Given the description of an element on the screen output the (x, y) to click on. 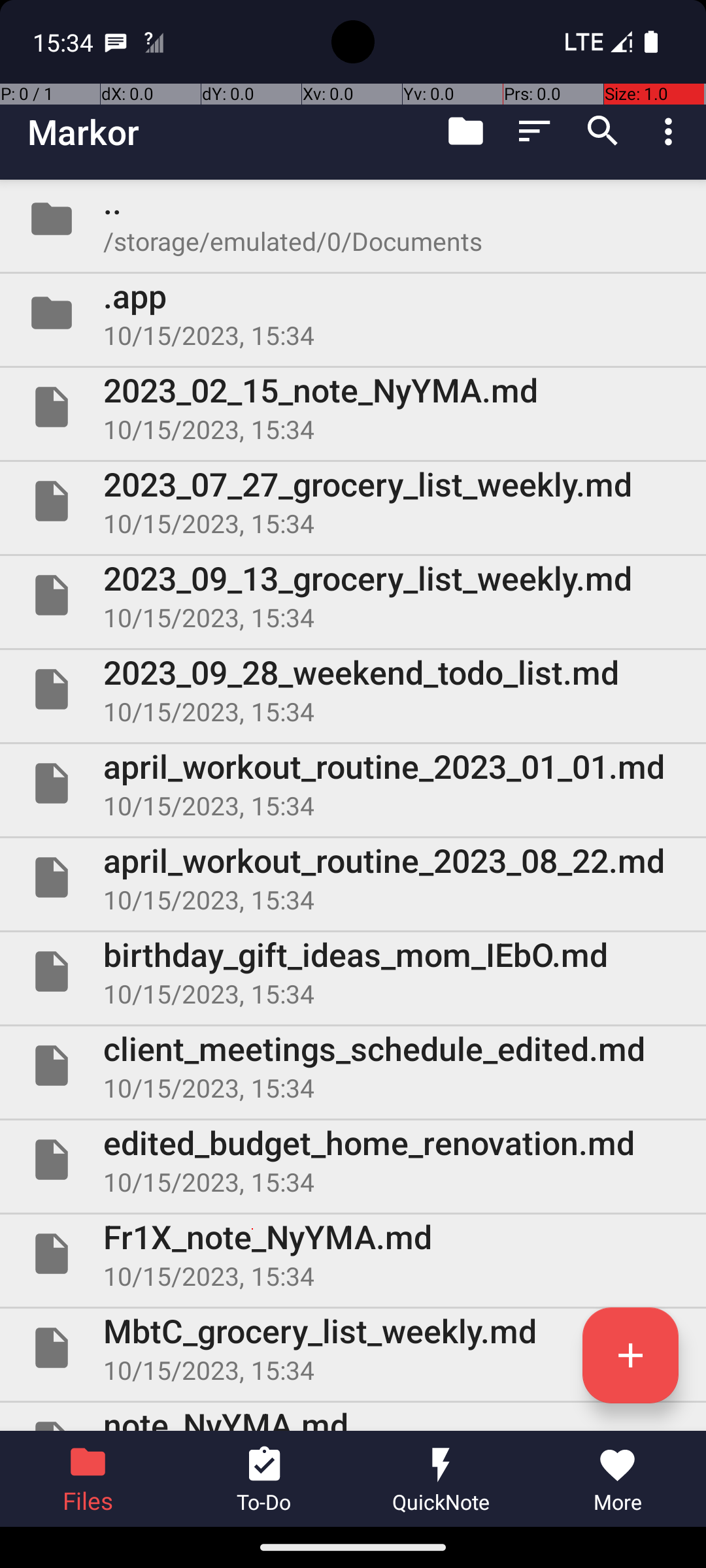
Folder .app  Element type: android.widget.LinearLayout (353, 312)
File 2023_02_15_note_NyYMA.md  Element type: android.widget.LinearLayout (353, 406)
File 2023_07_27_grocery_list_weekly.md  Element type: android.widget.LinearLayout (353, 500)
File 2023_09_13_grocery_list_weekly.md  Element type: android.widget.LinearLayout (353, 594)
File 2023_09_28_weekend_todo_list.md  Element type: android.widget.LinearLayout (353, 689)
File april_workout_routine_2023_01_01.md  Element type: android.widget.LinearLayout (353, 783)
File april_workout_routine_2023_08_22.md  Element type: android.widget.LinearLayout (353, 877)
File birthday_gift_ideas_mom_IEbO.md  Element type: android.widget.LinearLayout (353, 971)
File client_meetings_schedule_edited.md  Element type: android.widget.LinearLayout (353, 1065)
File edited_budget_home_renovation.md  Element type: android.widget.LinearLayout (353, 1159)
File Fr1X_note_NyYMA.md  Element type: android.widget.LinearLayout (353, 1253)
File MbtC_grocery_list_weekly.md  Element type: android.widget.LinearLayout (353, 1347)
File note_NyYMA.md  Element type: android.widget.LinearLayout (353, 1416)
